Given the description of an element on the screen output the (x, y) to click on. 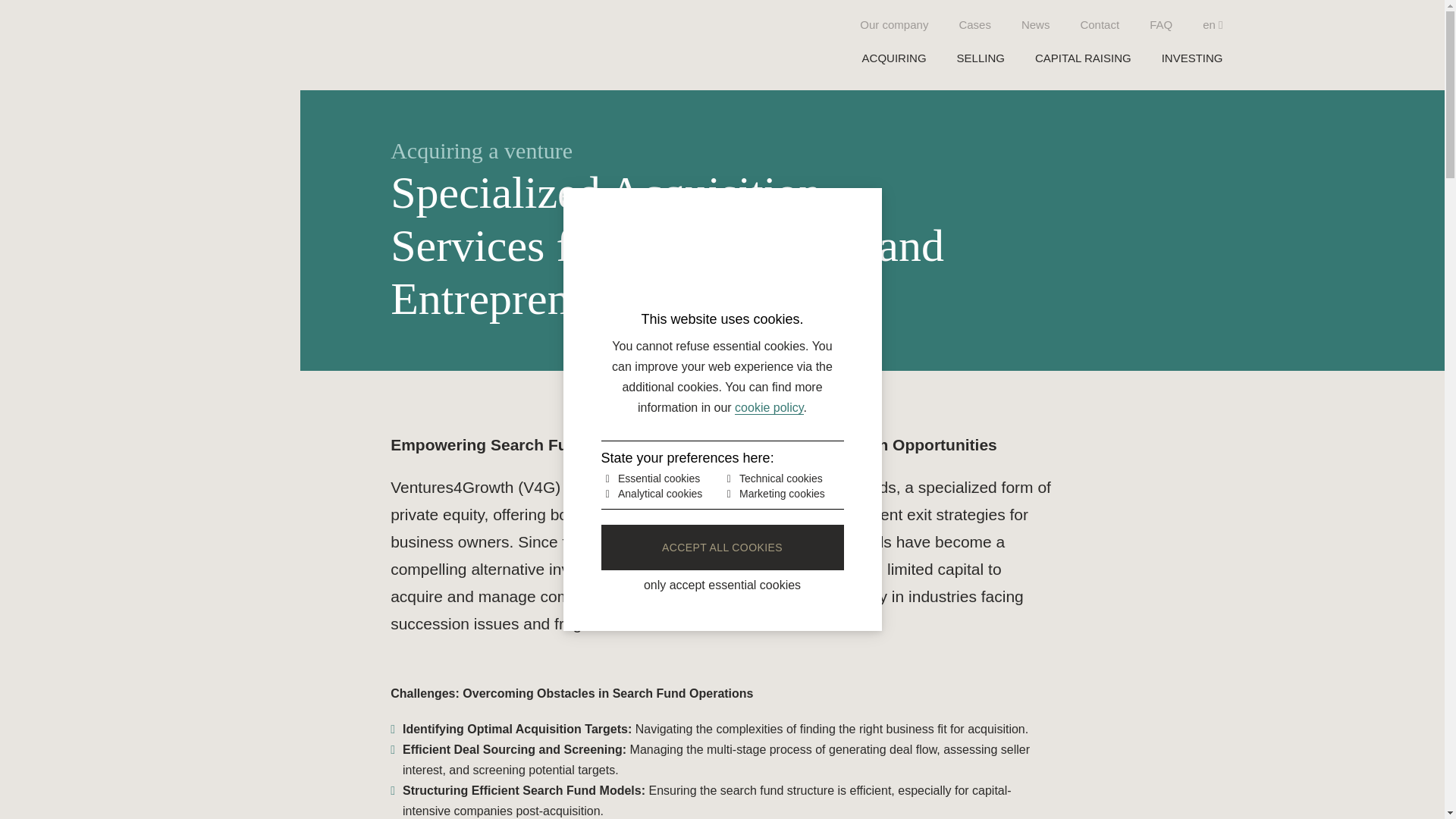
Contact (1099, 24)
Acquiring (893, 57)
Investing (1192, 57)
SELLING (980, 57)
CAPITAL RAISING (1083, 57)
ACCEPT ALL COOKIES (721, 547)
Cases (974, 24)
Capital raising (1083, 57)
FAQ (1161, 24)
only accept essential cookies (721, 585)
Contact (1099, 24)
Our company (894, 24)
News (1035, 24)
ACQUIRING (893, 57)
Selling (980, 57)
